Given the description of an element on the screen output the (x, y) to click on. 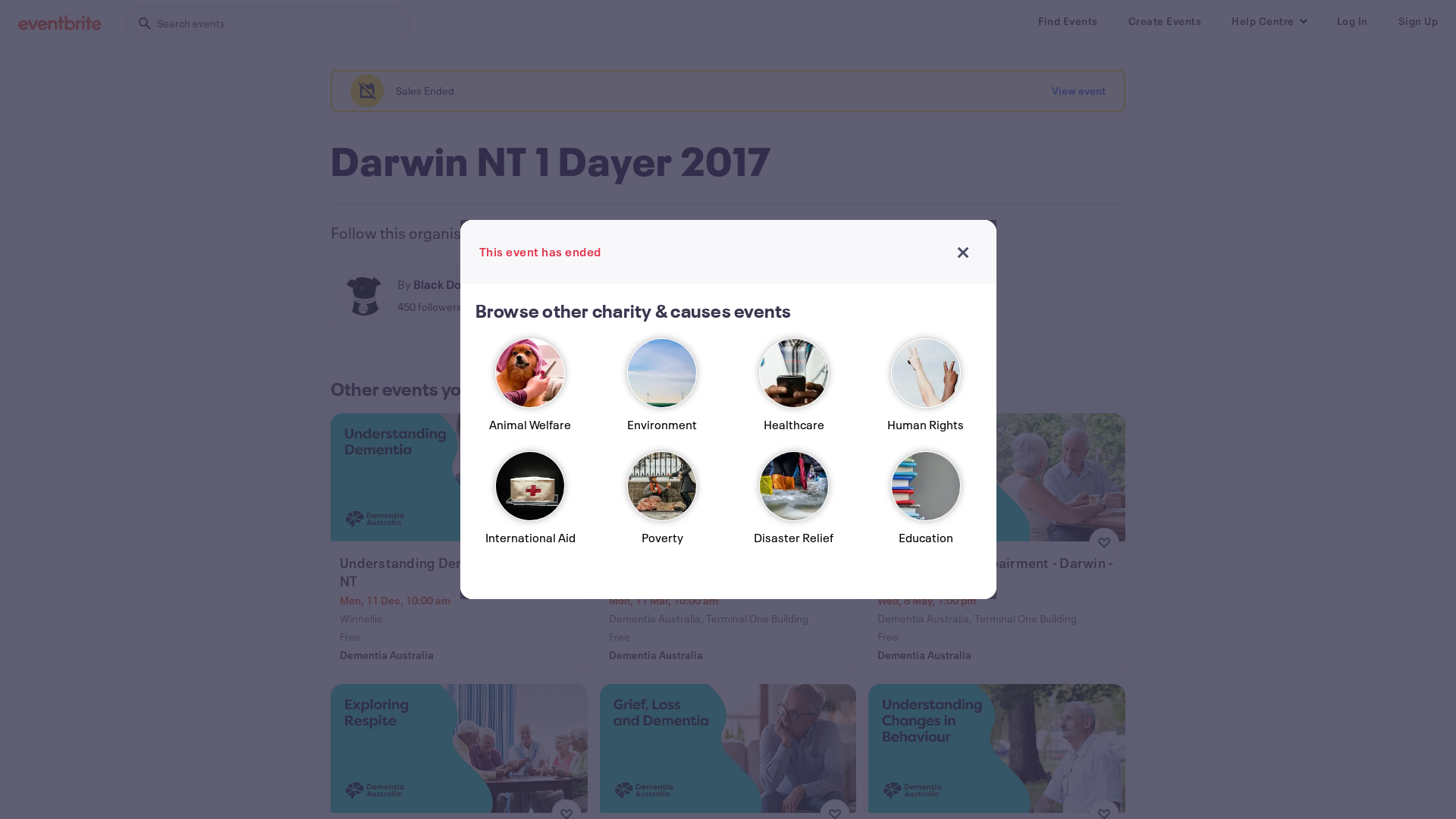
Education Element type: text (925, 504)
Communication and Dementia - Darwin - NT Element type: text (729, 571)
Find Events Element type: text (1068, 21)
Environment Element type: text (661, 391)
View event Element type: text (1078, 90)
Healthcare Element type: text (793, 391)
Eventbrite Element type: hover (59, 22)
Log In Element type: text (1351, 21)
Follow Element type: text (546, 294)
Animal Welfare Element type: text (530, 391)
Mild Cognitive Impairment - Darwin - NT Element type: text (998, 571)
Create Events Element type: text (1165, 21)
Sign Up Element type: text (1418, 21)
Human Rights Element type: text (925, 391)
Poverty Element type: text (661, 504)
International Aid Element type: text (530, 504)
Search events Element type: text (268, 22)
Disaster Relief Element type: text (793, 504)
Understanding Dementia - Darwin - NT Element type: text (460, 571)
